Given the description of an element on the screen output the (x, y) to click on. 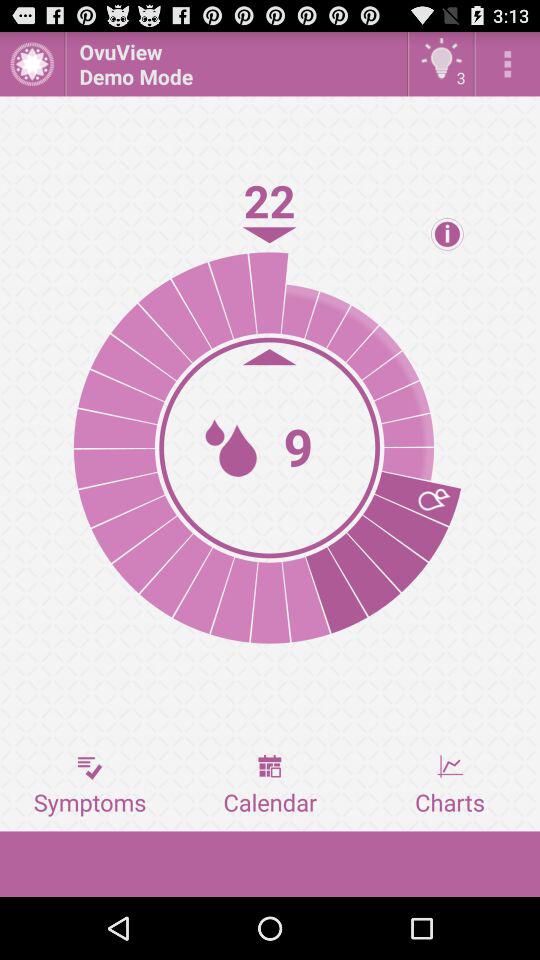
press symptoms item (90, 785)
